Given the description of an element on the screen output the (x, y) to click on. 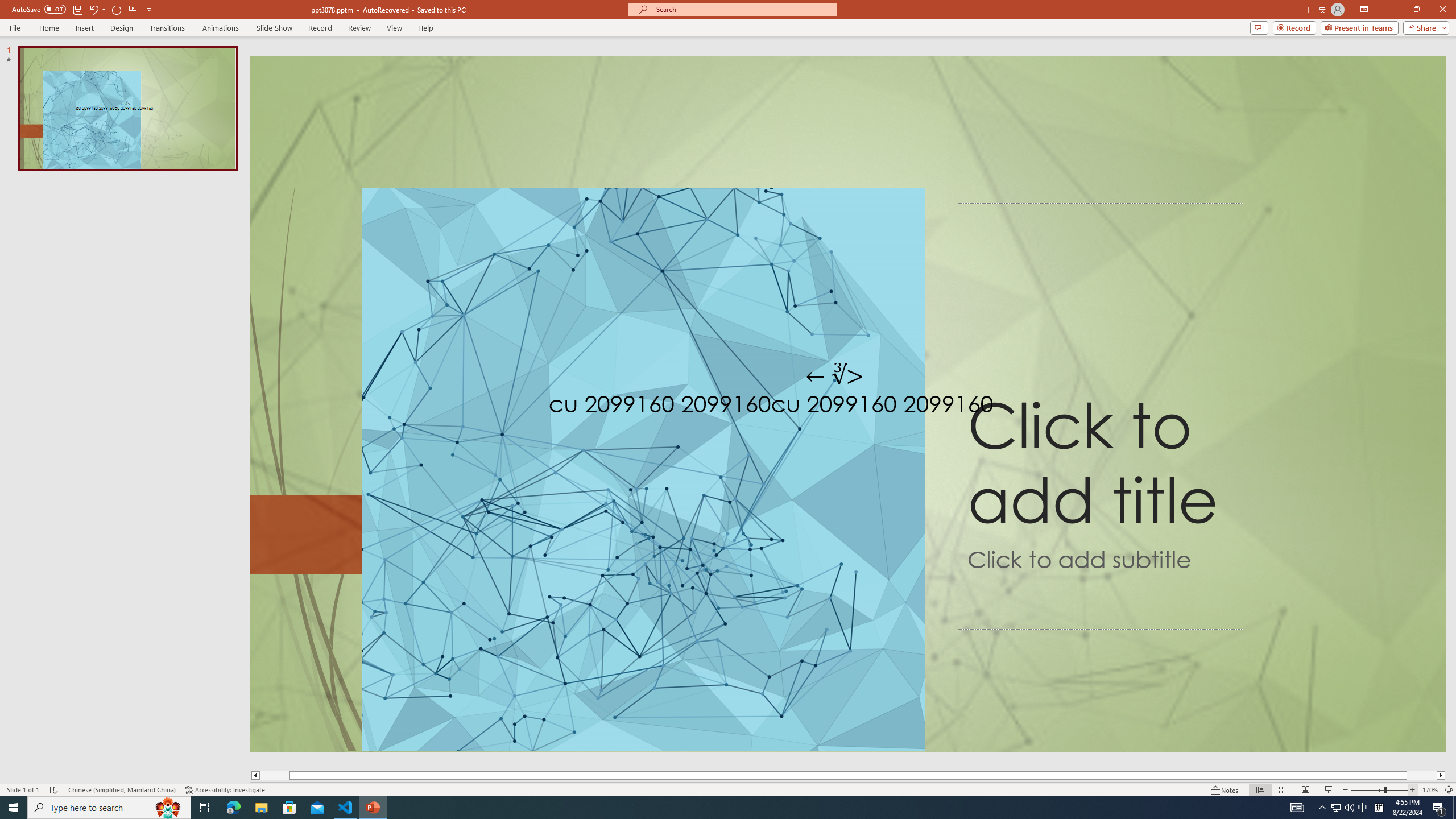
Animations (220, 28)
Microsoft search (742, 9)
System (6, 6)
Undo (92, 9)
Save (77, 9)
Record (320, 28)
Zoom to Fit  (1449, 790)
Class: MsoCommandBar (728, 789)
Undo (96, 9)
Zoom (1379, 790)
Accessibility Checker Accessibility: Investigate (224, 790)
Quick Access Toolbar (82, 9)
Minimize (1390, 9)
From Beginning (133, 9)
Zoom Out (1367, 790)
